Given the description of an element on the screen output the (x, y) to click on. 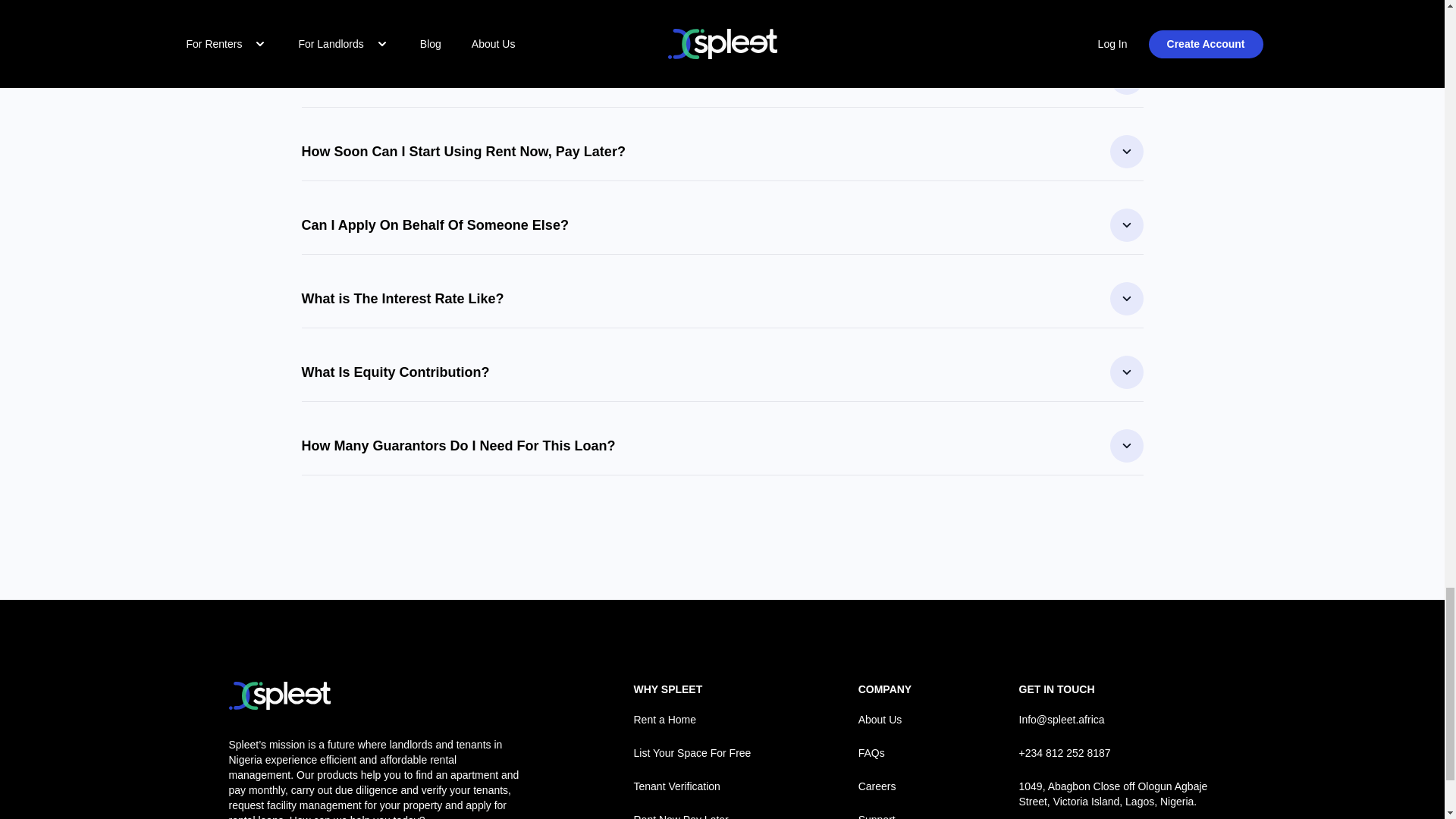
What Is Equity Contribution? (721, 372)
Rent Now Pay Later (692, 815)
Tenant Verification (692, 785)
What is The Interest Rate Like? (721, 298)
How Many Guarantors Do I Need For This Loan? (721, 445)
FAQs (885, 752)
About Us (885, 719)
Rent a Home (692, 719)
Support (885, 815)
Who Is Rent Now, Pay Later for? (721, 10)
